Given the description of an element on the screen output the (x, y) to click on. 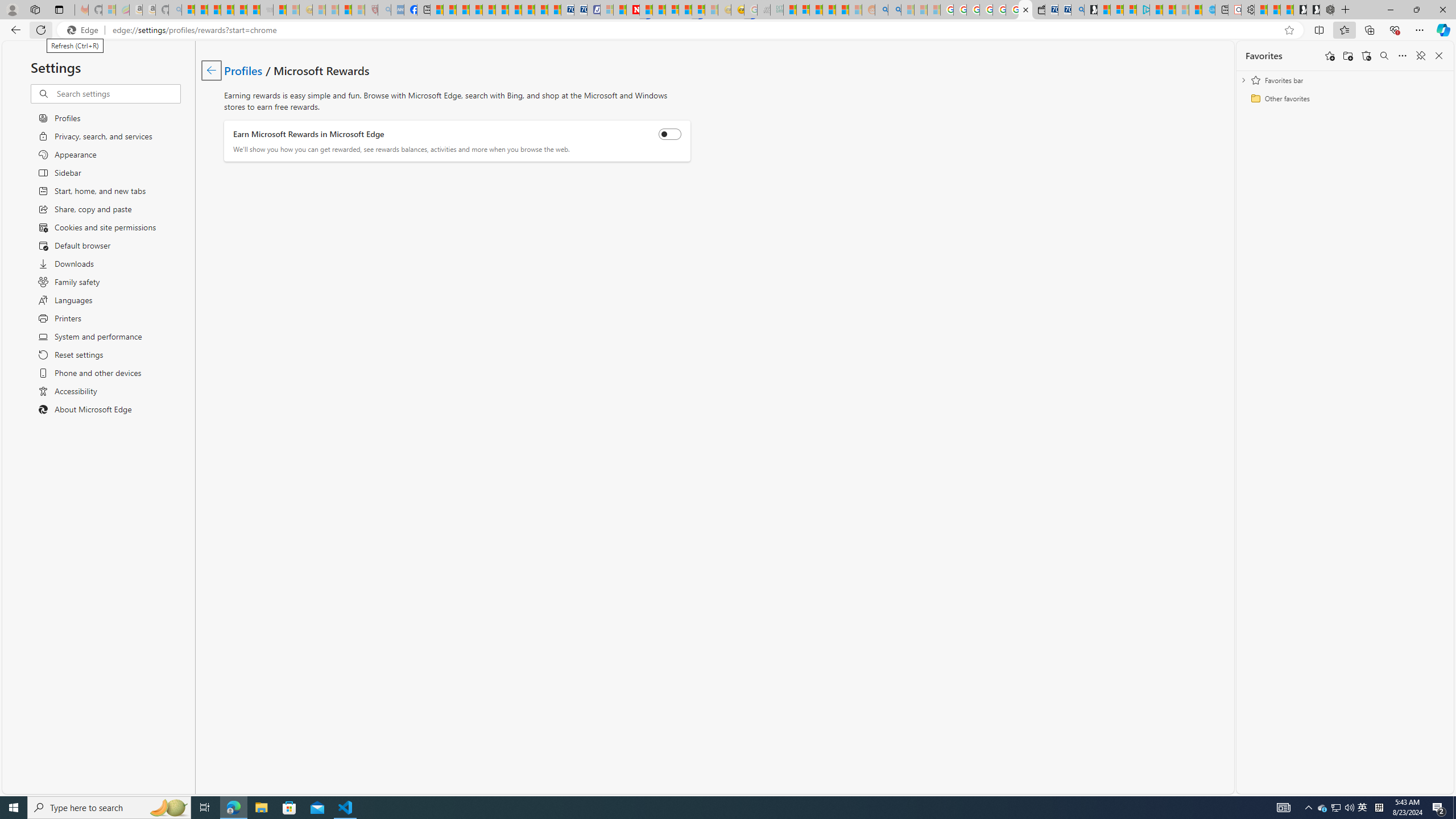
Combat Siege - Sleeping (266, 9)
Earn Microsoft Rewards in Microsoft Edge (669, 134)
Class: c01176 (210, 70)
Close favorites (1439, 55)
